Given the description of an element on the screen output the (x, y) to click on. 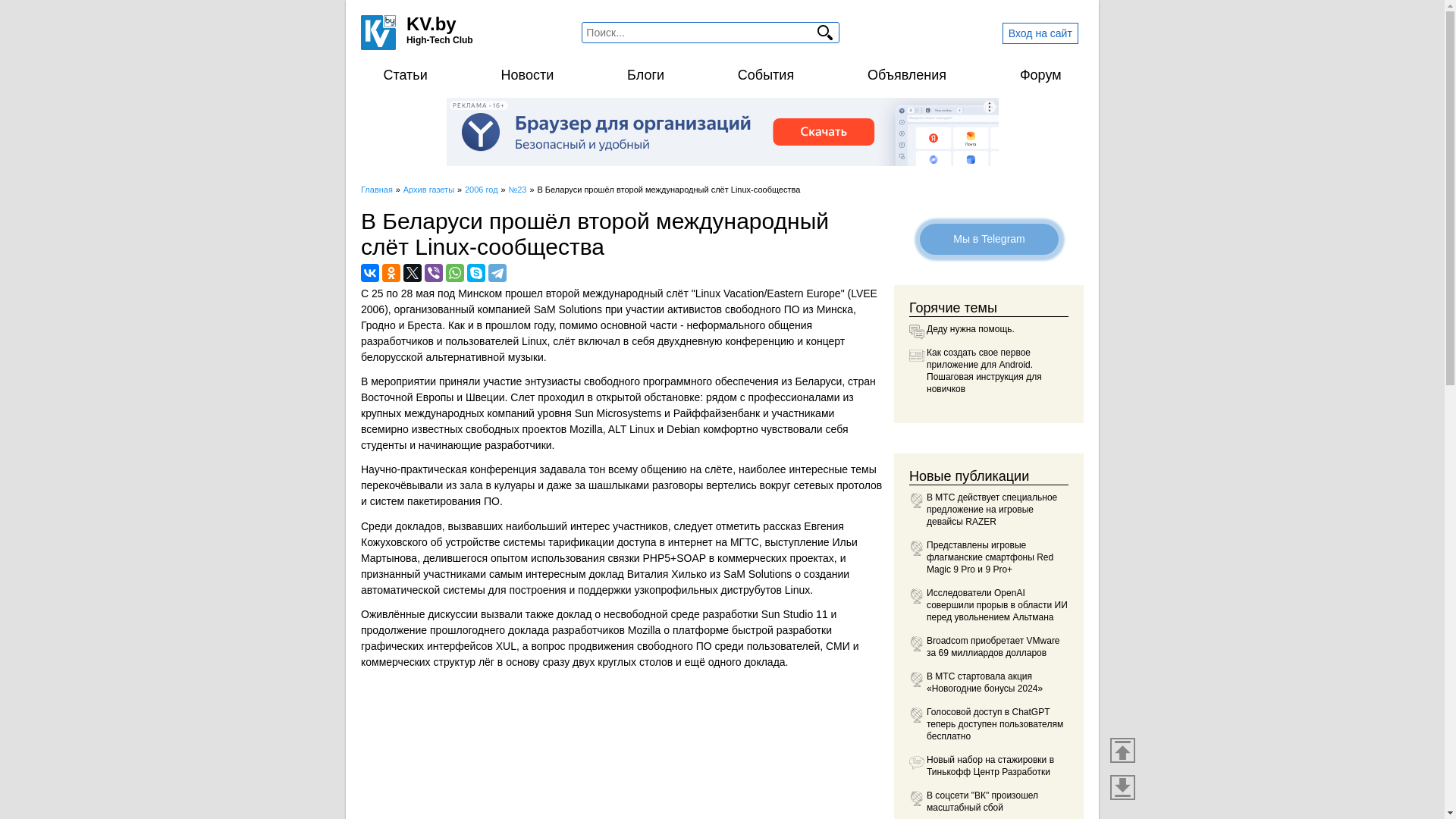
Skype Element type: hover (476, 272)
Twitter Element type: hover (412, 272)
Viber Element type: hover (433, 272)
WhatsApp Element type: hover (454, 272)
KV.by Element type: text (431, 23)
Telegram Element type: hover (497, 272)
